Given the description of an element on the screen output the (x, y) to click on. 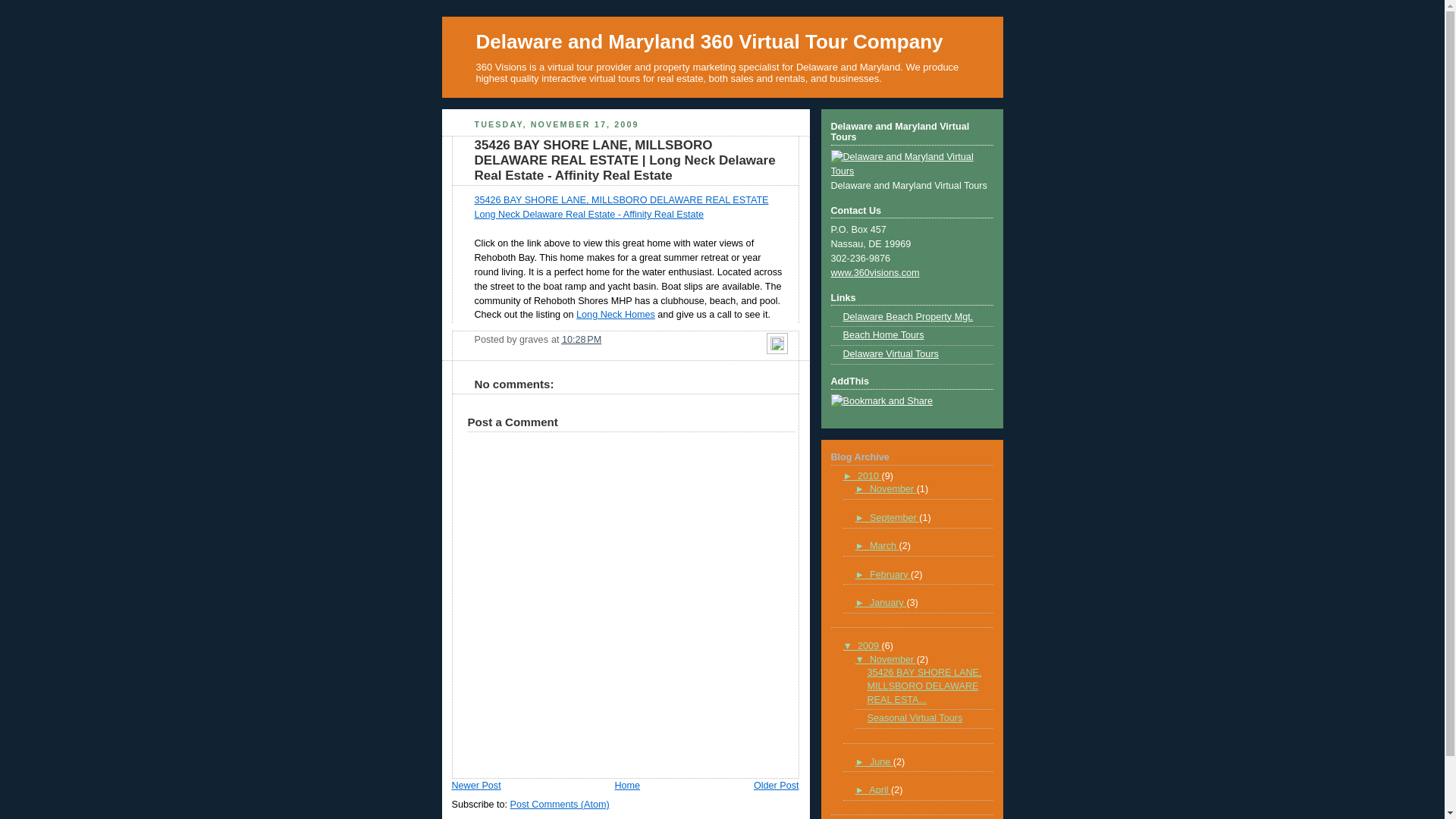
February Element type: text (889, 574)
April Element type: text (880, 789)
2010 Element type: text (869, 475)
Delaware Beach Property Mgt. Element type: text (908, 316)
Older Post Element type: text (776, 785)
Beach Home Tours Element type: text (883, 334)
Long Neck Homes Element type: text (615, 314)
2009 Element type: text (869, 645)
Post Comments (Atom) Element type: text (559, 804)
November Element type: text (892, 488)
Newer Post Element type: text (476, 785)
June Element type: text (881, 761)
Edit Post Element type: hover (776, 347)
January Element type: text (887, 602)
35426 BAY SHORE LANE, MILLSBORO DELAWARE REAL ESTA... Element type: text (924, 685)
www.360visions.com Element type: text (875, 272)
Home Element type: text (627, 785)
November Element type: text (892, 659)
Delaware and Maryland 360 Virtual Tour Company Element type: text (709, 41)
September Element type: text (894, 517)
Delaware Virtual Tours Element type: text (890, 353)
March Element type: text (884, 545)
Seasonal Virtual Tours Element type: text (915, 717)
